Given the description of an element on the screen output the (x, y) to click on. 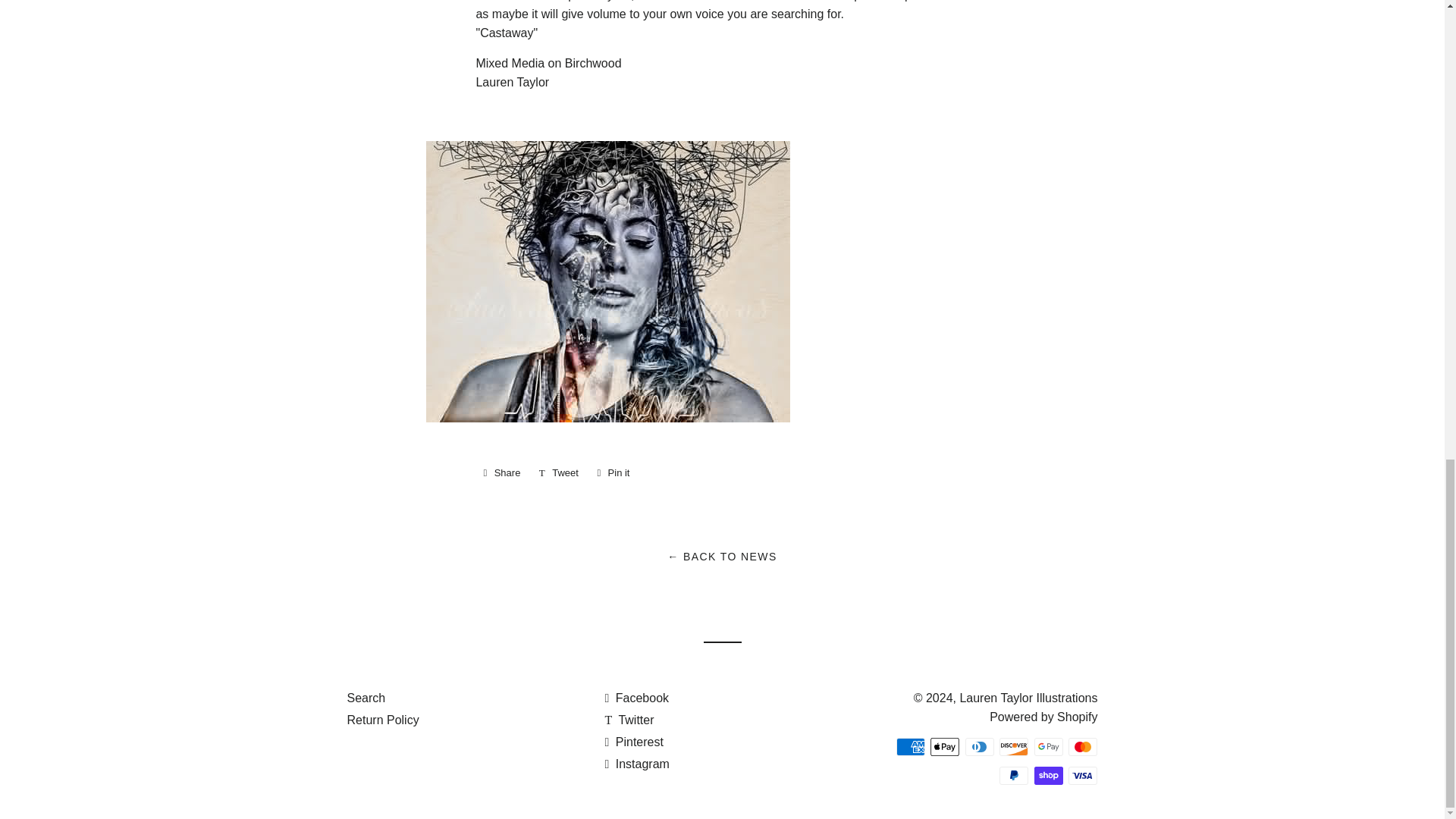
Share on Facebook (501, 472)
Diners Club (979, 746)
Shop Pay (1047, 775)
PayPal (1012, 775)
Visa (1082, 775)
Lauren Taylor Illustrations on Pinterest (633, 741)
Lauren Taylor Illustrations on Twitter (628, 719)
Apple Pay (944, 746)
Tweet on Twitter (558, 472)
Mastercard (1082, 746)
